Given the description of an element on the screen output the (x, y) to click on. 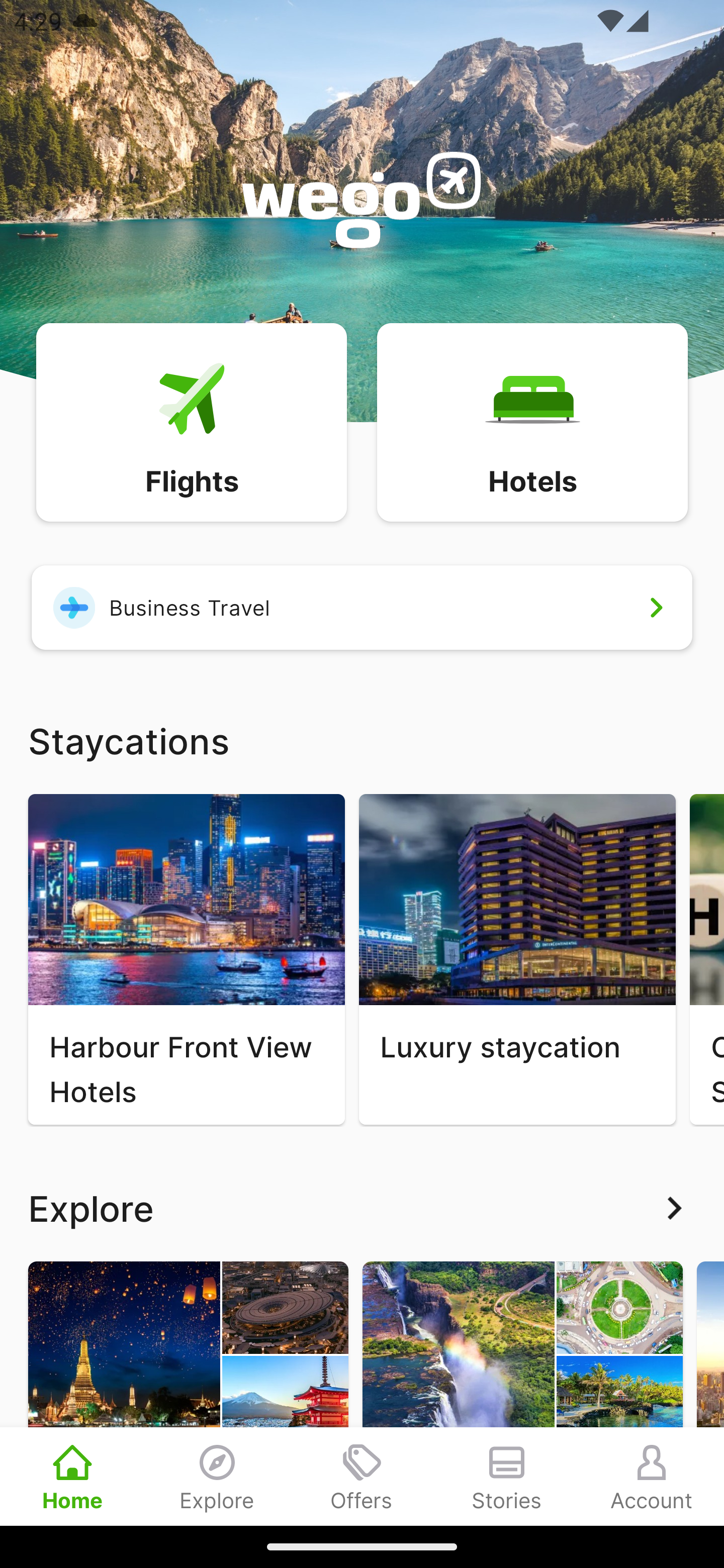
Flights (191, 420)
Hotels (532, 420)
Business Travel (361, 607)
Staycations (362, 739)
Harbour Front View Hotels (186, 958)
Luxury staycation (517, 958)
Explore (362, 1207)
Popular Destinations (188, 1392)
Visa-free Countries (522, 1392)
Explore (216, 1475)
Offers (361, 1475)
Stories (506, 1475)
Account (651, 1475)
